Given the description of an element on the screen output the (x, y) to click on. 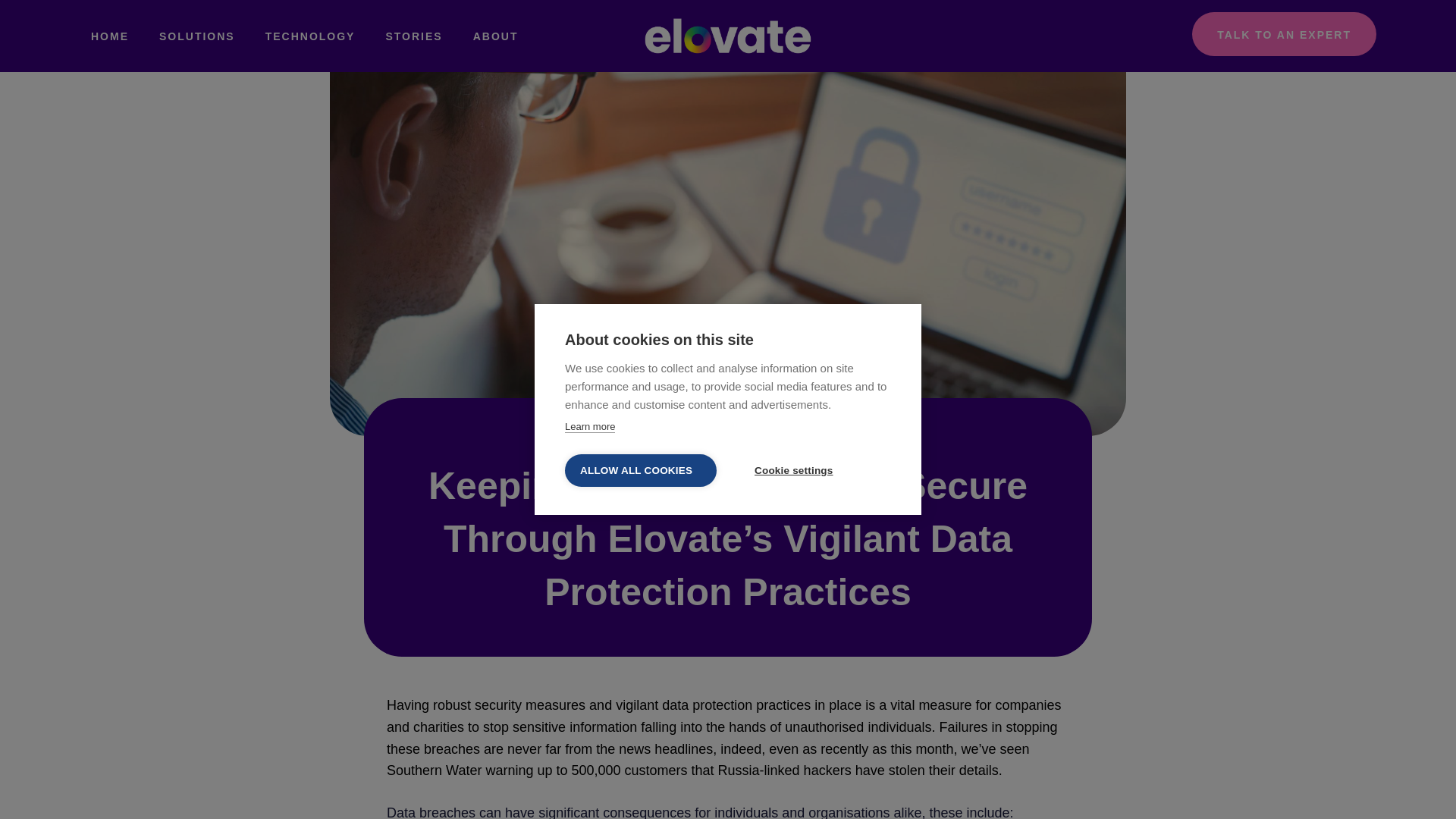
STORIES (413, 35)
SOLUTIONS (197, 13)
TECHNOLOGY (310, 35)
HOME (109, 12)
Chatbot (1394, 758)
ABOUT (496, 35)
